Given the description of an element on the screen output the (x, y) to click on. 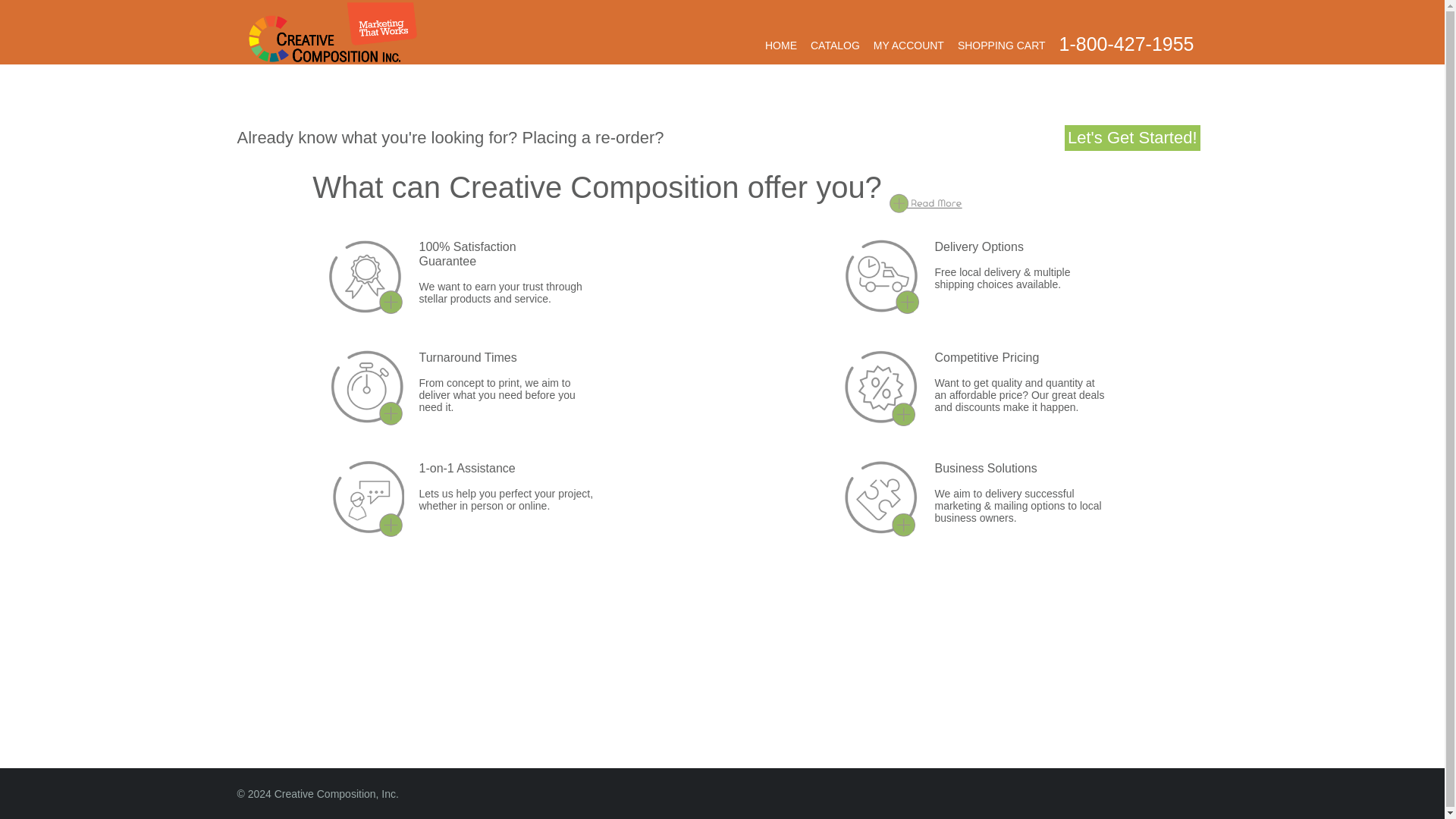
MY ACCOUNT (908, 45)
SHOPPING CART (1001, 45)
CATALOG (835, 45)
1-800-427-1955 (1126, 43)
HOME (780, 45)
